Given the description of an element on the screen output the (x, y) to click on. 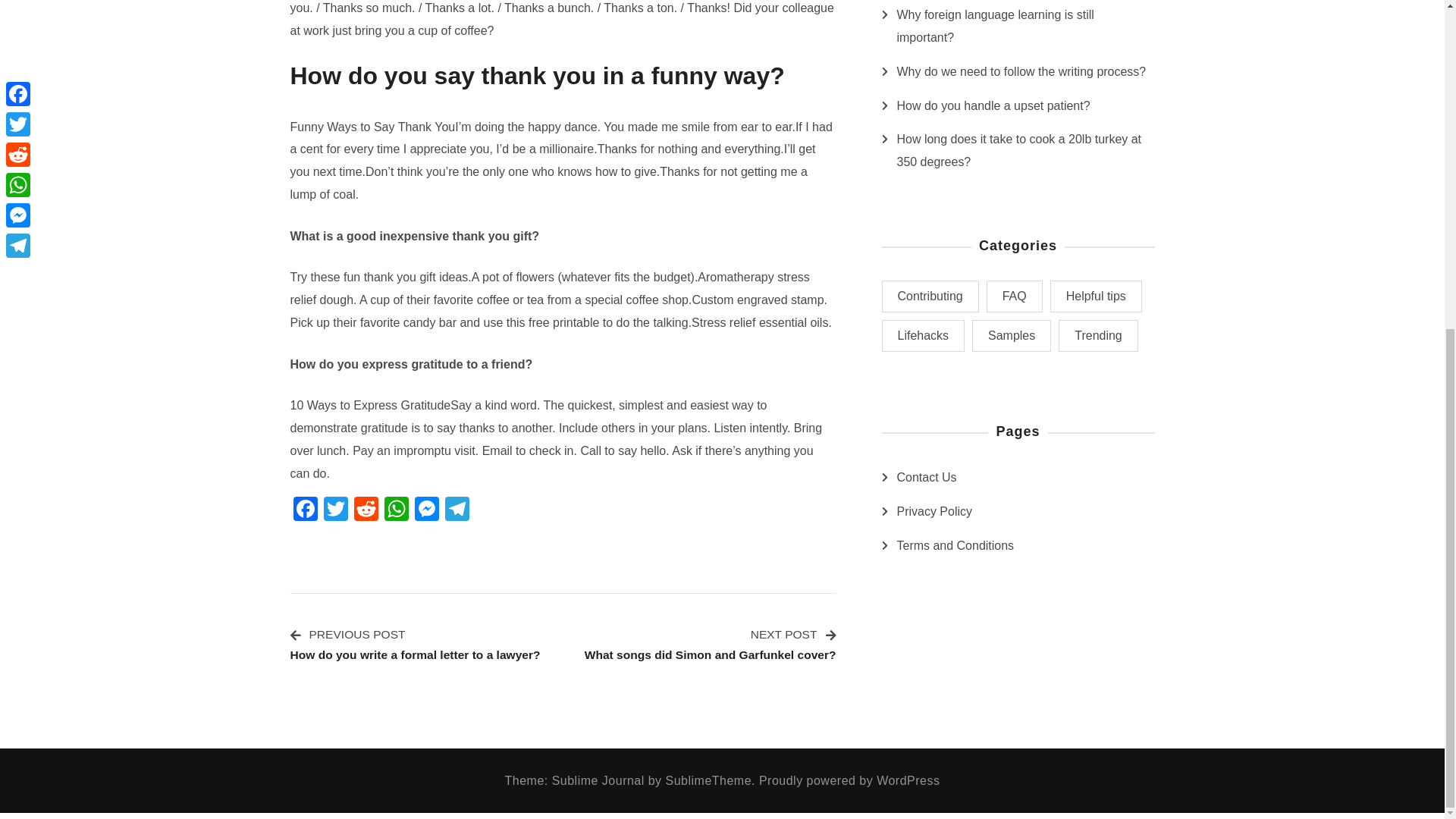
FAQ (1014, 296)
How do you handle a upset patient? (992, 106)
Messenger (425, 510)
Privacy Policy (933, 511)
Reddit (365, 510)
Twitter (335, 510)
Messenger (425, 510)
Why foreign language learning is still important? (1025, 26)
Why do we need to follow the writing process? (1020, 71)
Twitter (335, 510)
Samples (1011, 336)
Reddit (365, 510)
Proudly powered by WordPress (848, 780)
Telegram (456, 510)
Terms and Conditions (954, 545)
